Given the description of an element on the screen output the (x, y) to click on. 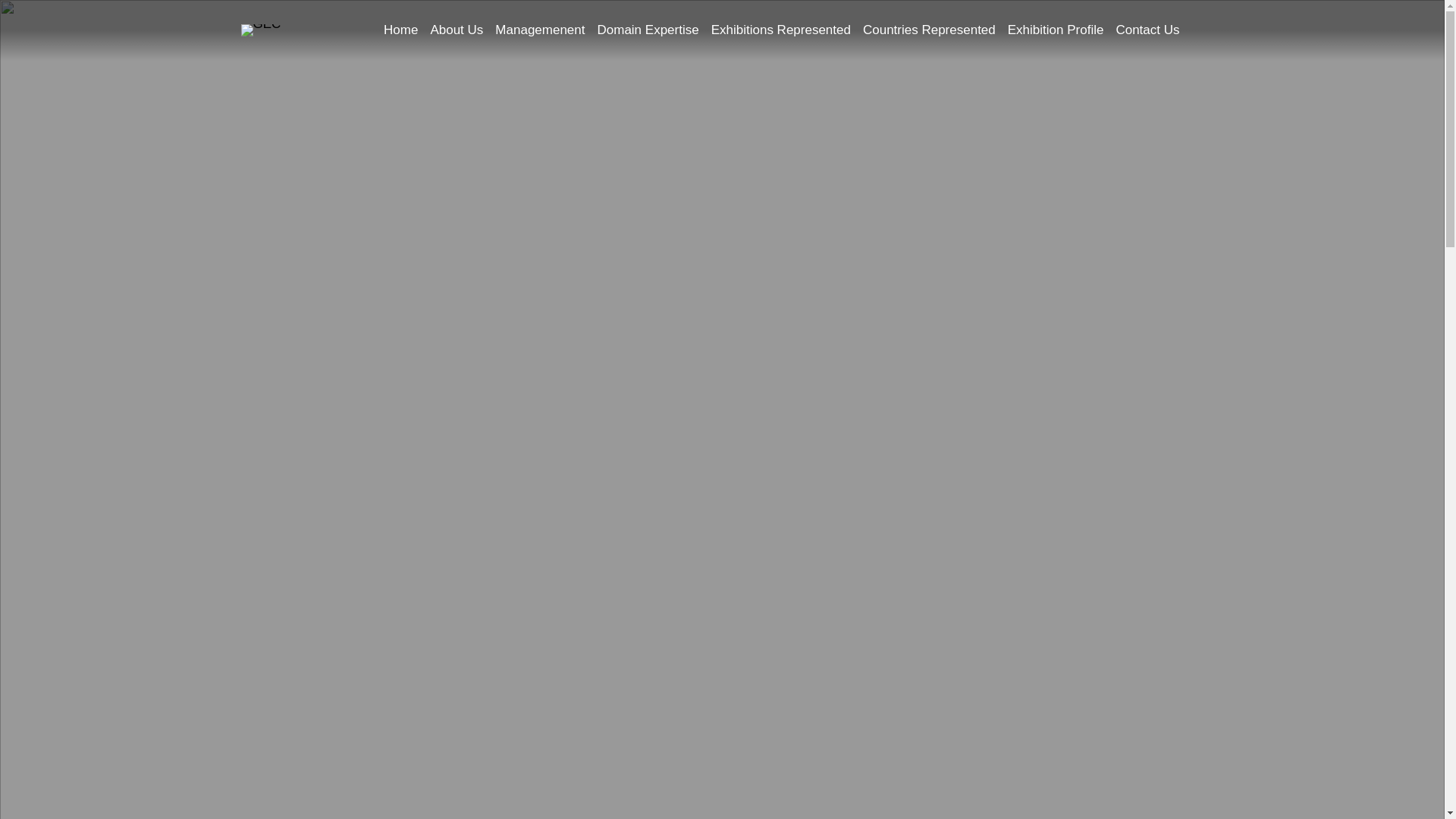
Contact Us (1147, 29)
Managemenent (540, 29)
Countries Represented (929, 29)
Exhibition Profile (1055, 29)
Home (400, 29)
Exhibitions Represented (780, 29)
Domain Expertise (647, 29)
About Us (456, 29)
